Given the description of an element on the screen output the (x, y) to click on. 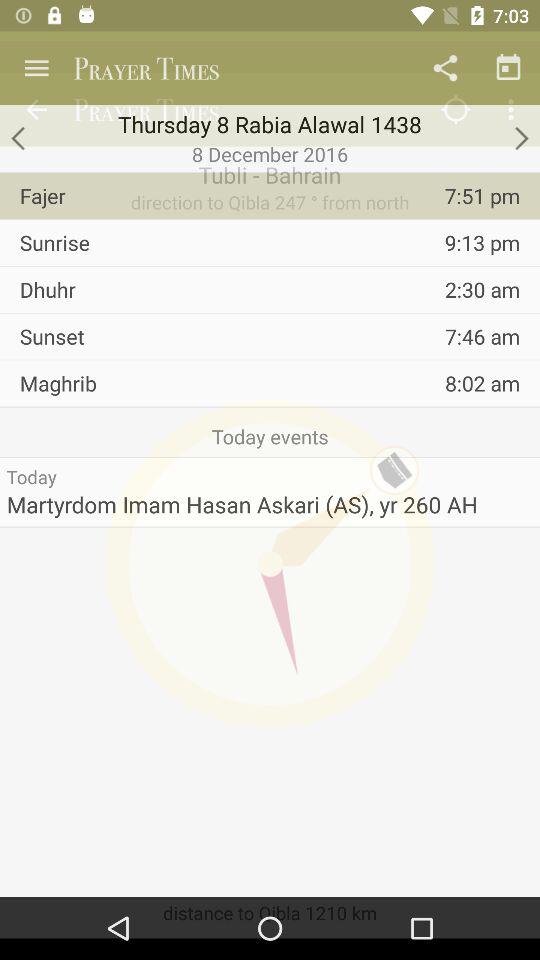
for back (19, 138)
